Given the description of an element on the screen output the (x, y) to click on. 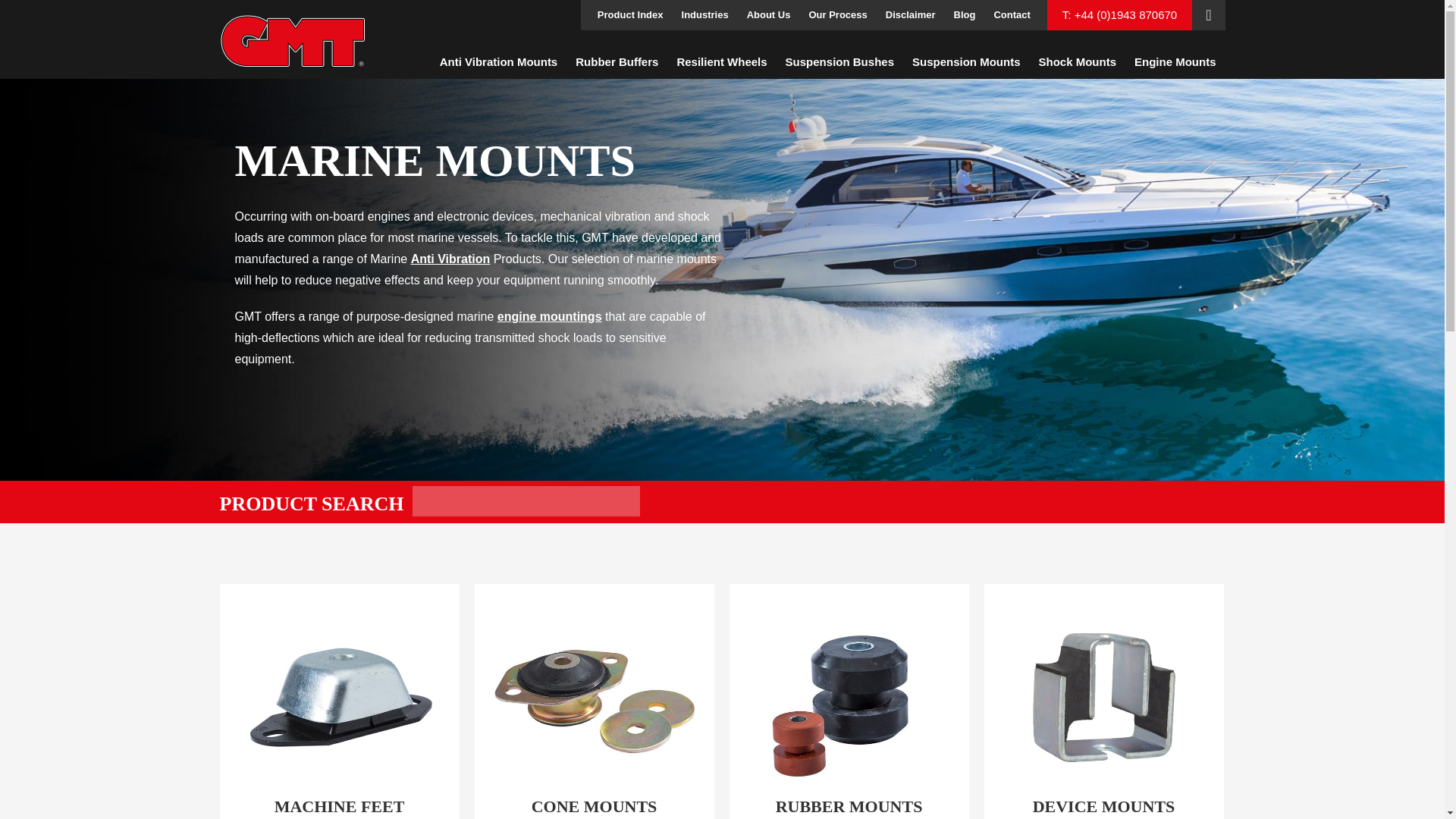
Our Process (837, 15)
Product Index (630, 15)
Contact (1011, 15)
Blog (964, 15)
Disclaimer (910, 15)
Rubber Buffers (616, 61)
Anti Vibration Mounts (498, 61)
Industries (705, 15)
About Us (768, 15)
